Given the description of an element on the screen output the (x, y) to click on. 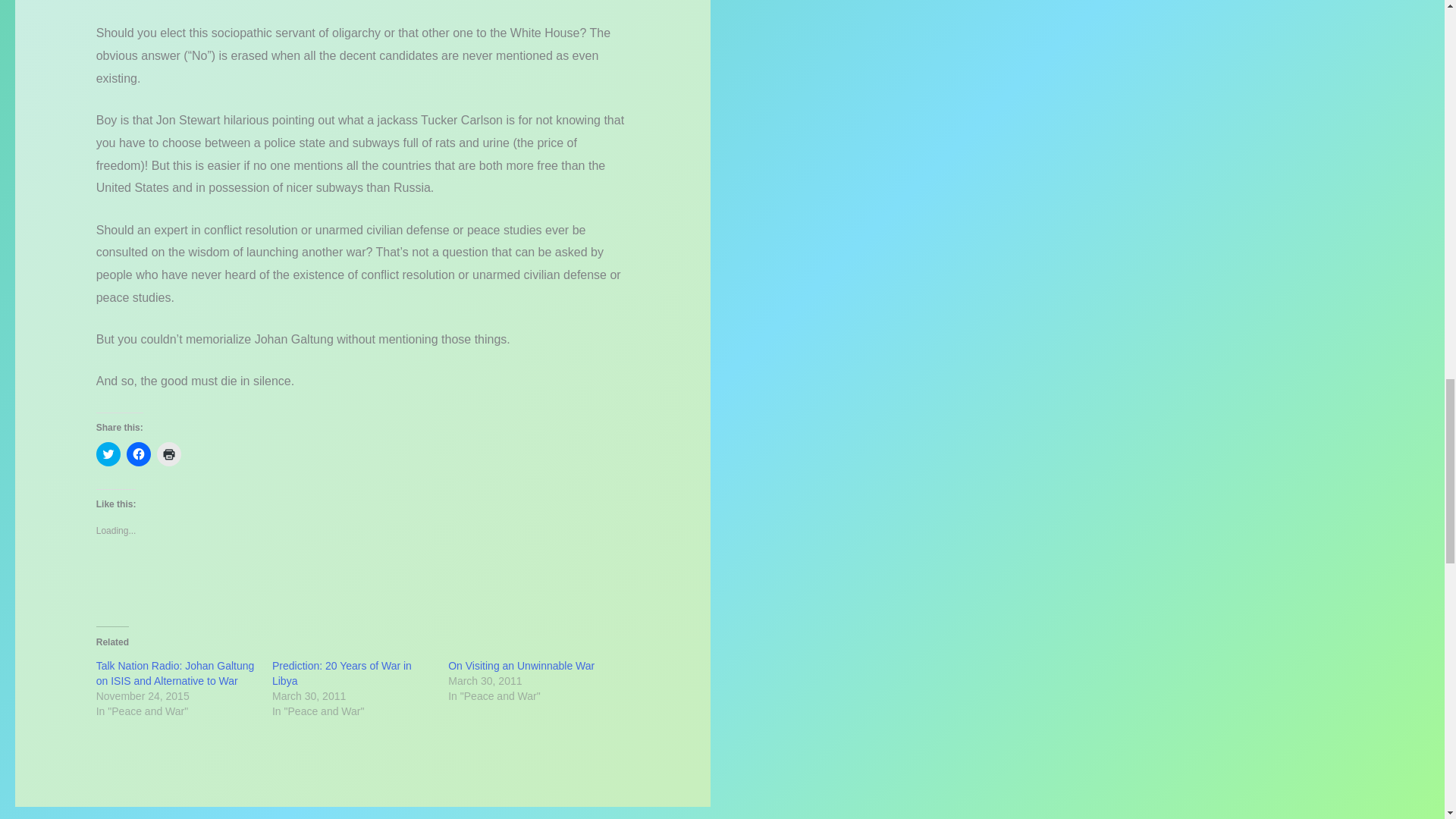
Click to share on Facebook (138, 454)
Prediction: 20 Years of War in Libya (342, 673)
Like or Reblog (363, 580)
Click to share on Twitter (108, 454)
Click to print (168, 454)
On Visiting an Unwinnable War (521, 665)
